Given the description of an element on the screen output the (x, y) to click on. 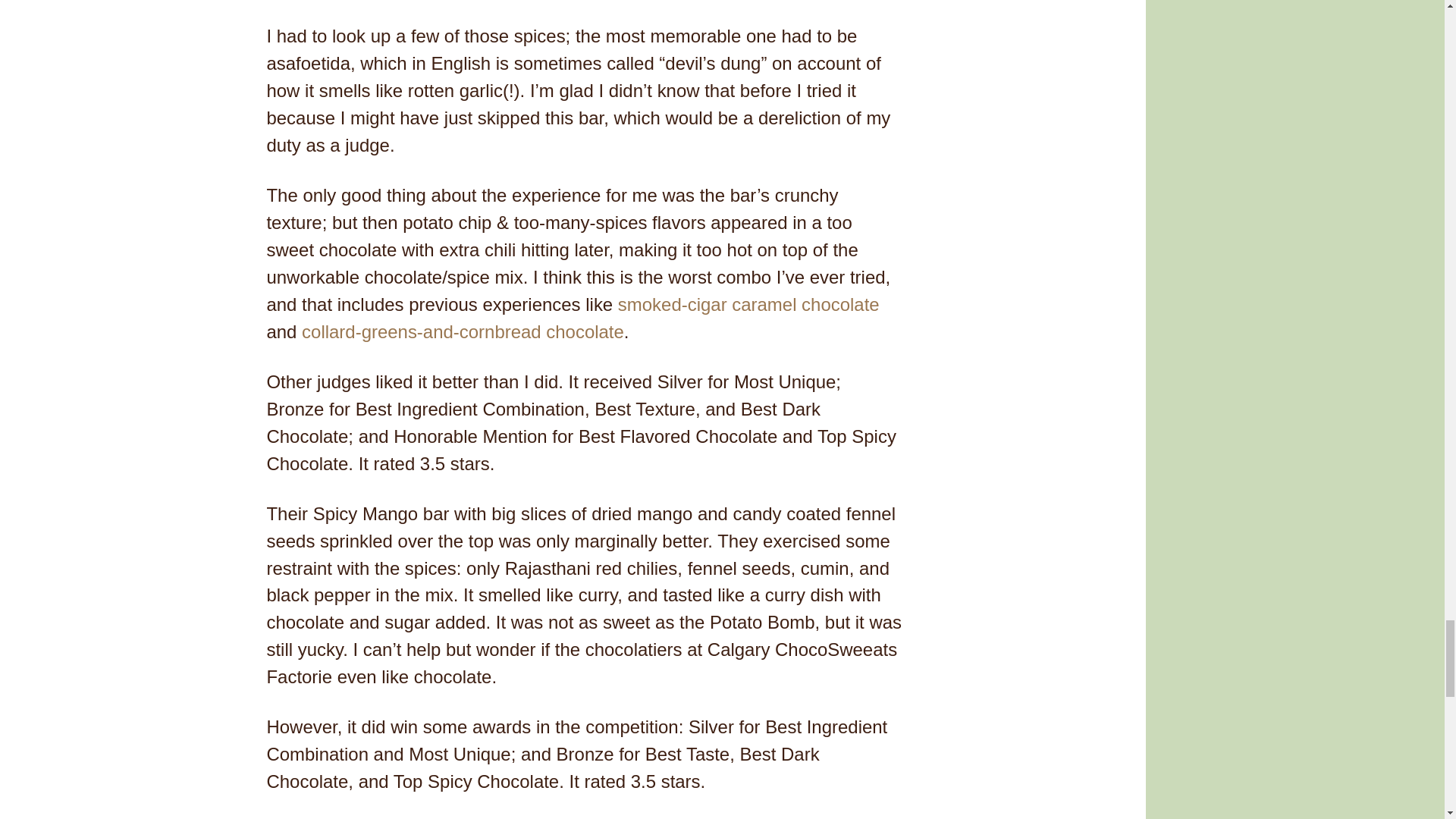
smoked-cigar caramel chocolate (748, 304)
collard-greens-and-cornbread chocolate (462, 331)
